Given the description of an element on the screen output the (x, y) to click on. 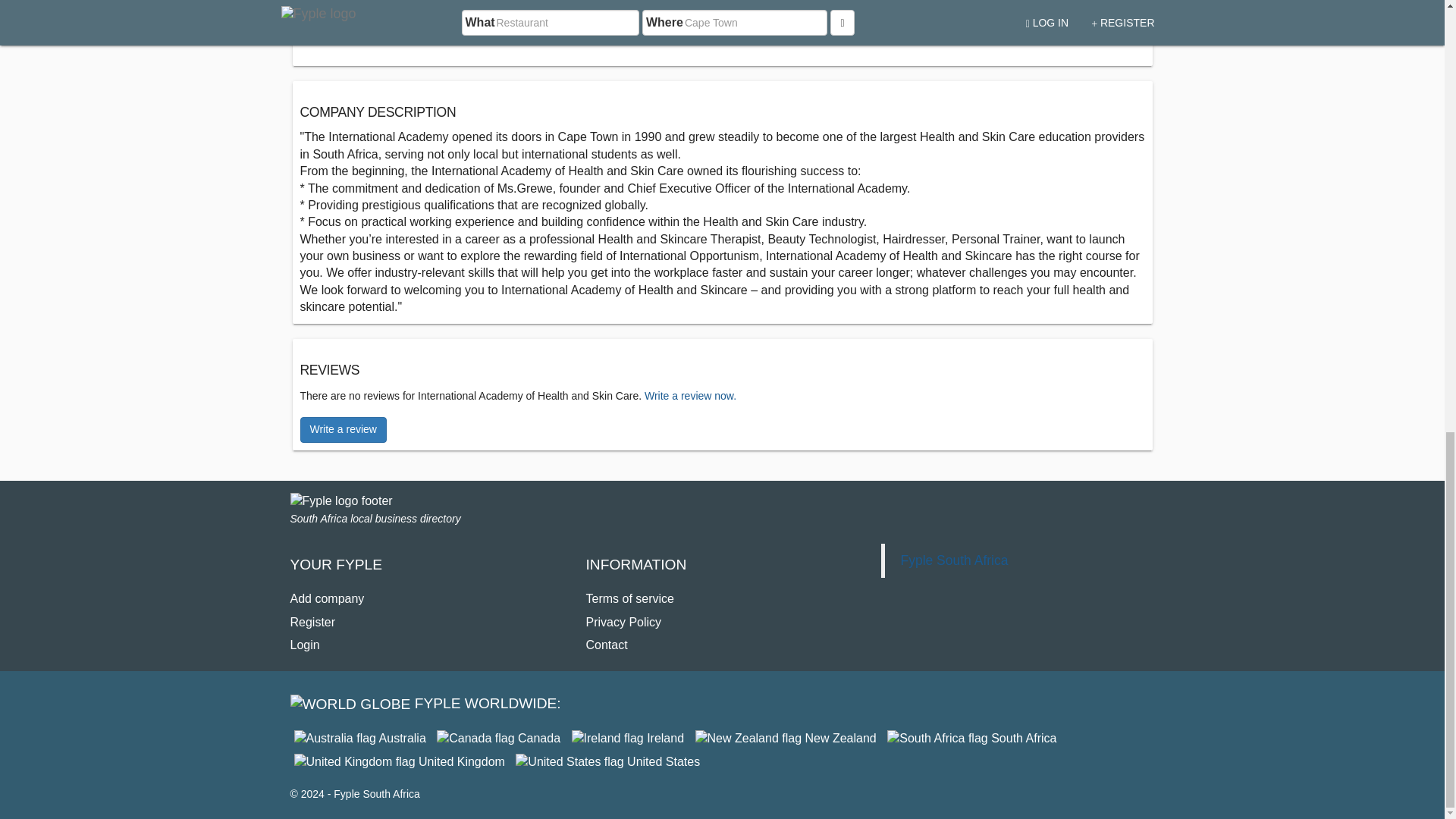
Canada (498, 738)
Add company (326, 598)
New Zealand (785, 738)
Fyple Republic of Ireland (628, 738)
Contact (606, 644)
Fyple South Africa (953, 560)
Fyple United States (607, 761)
Fyple Canada (498, 738)
Fyple South Africa (971, 738)
Privacy Policy (623, 621)
Fyple United Kingdom (399, 761)
Australia (360, 738)
Ireland (628, 738)
Fyple New Zealand (785, 738)
Write a review now. (690, 395)
